Given the description of an element on the screen output the (x, y) to click on. 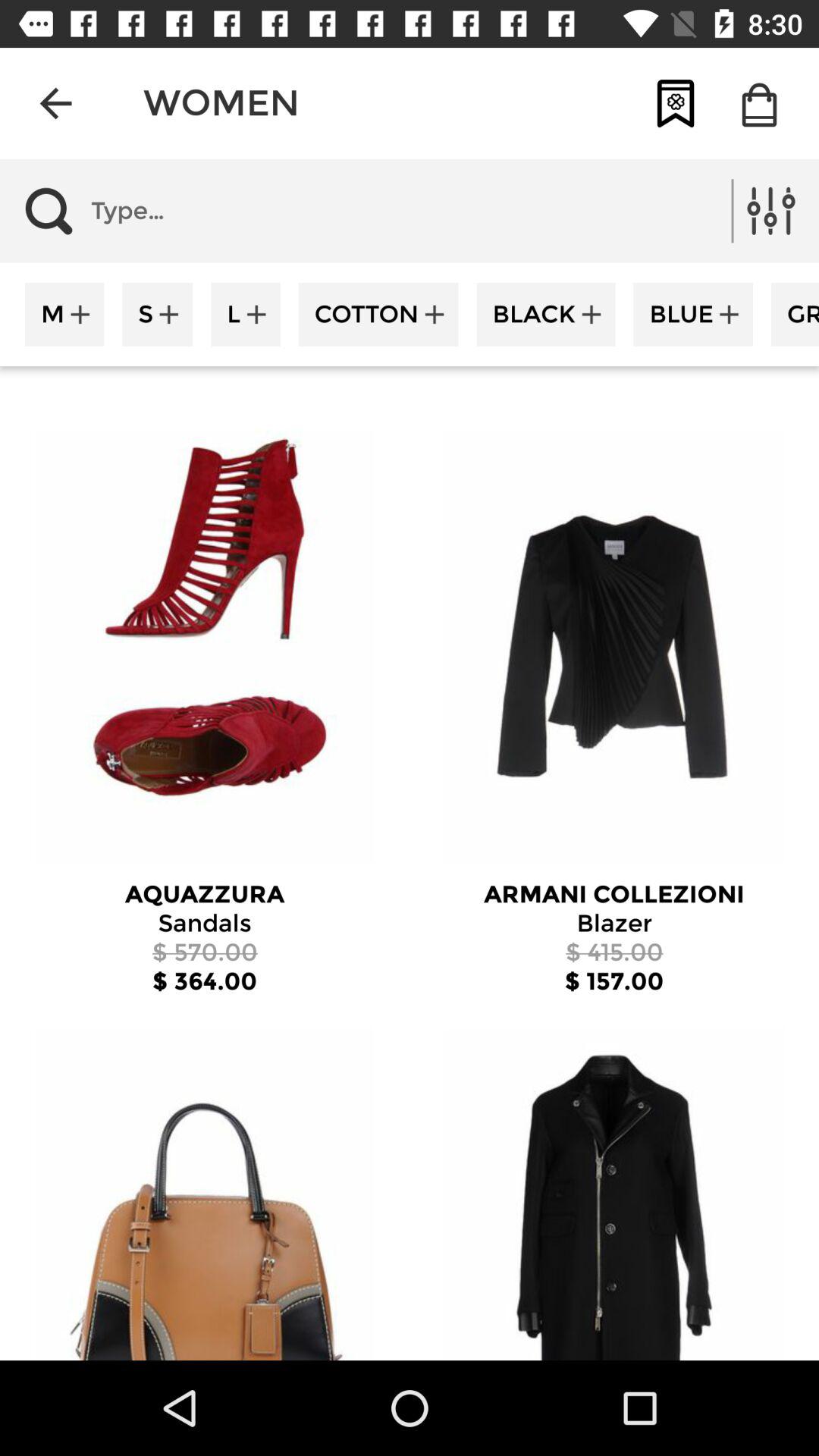
swipe to m item (64, 314)
